Given the description of an element on the screen output the (x, y) to click on. 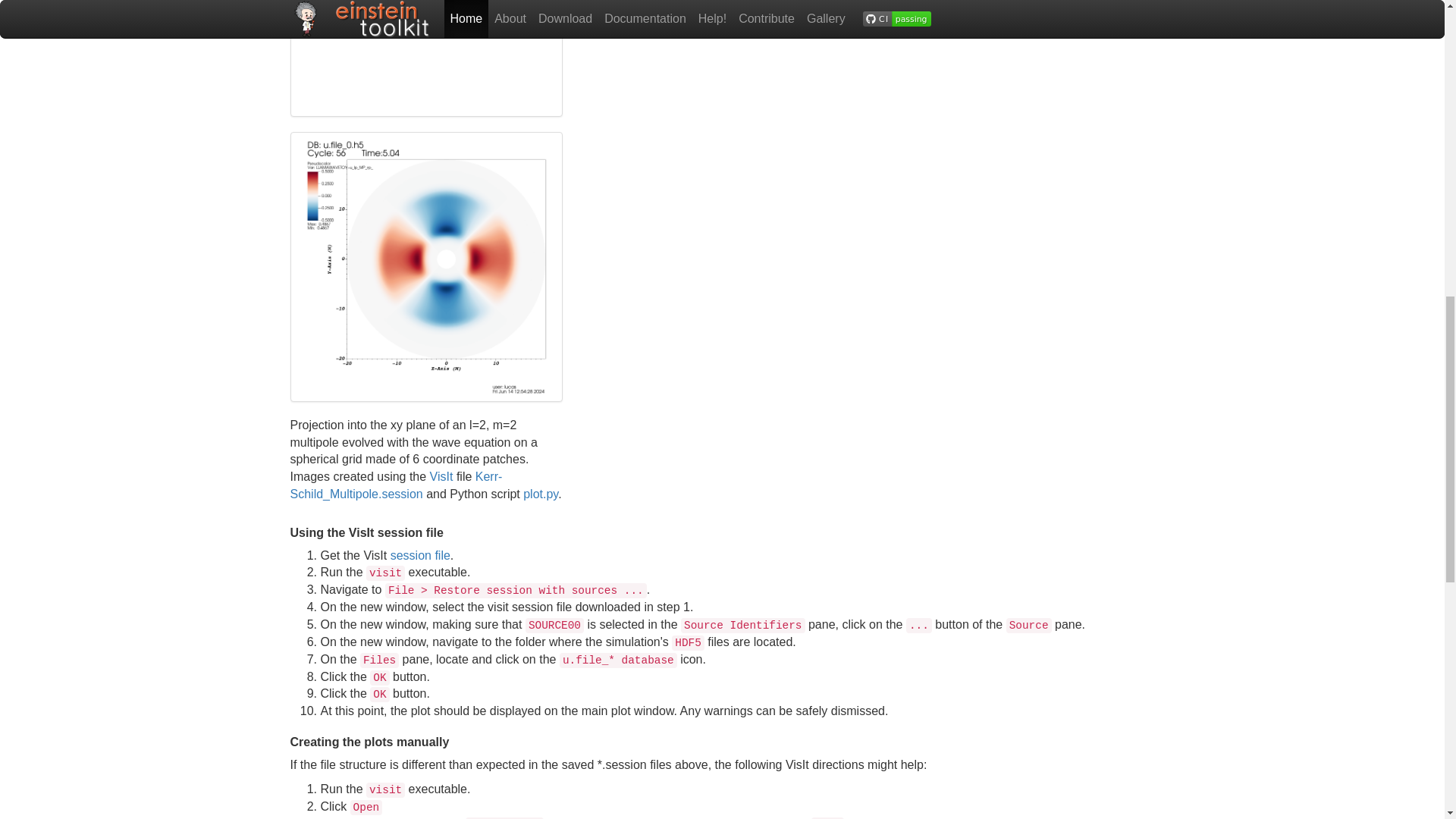
session file (419, 554)
VisIt (440, 476)
plot.py (539, 493)
